Given the description of an element on the screen output the (x, y) to click on. 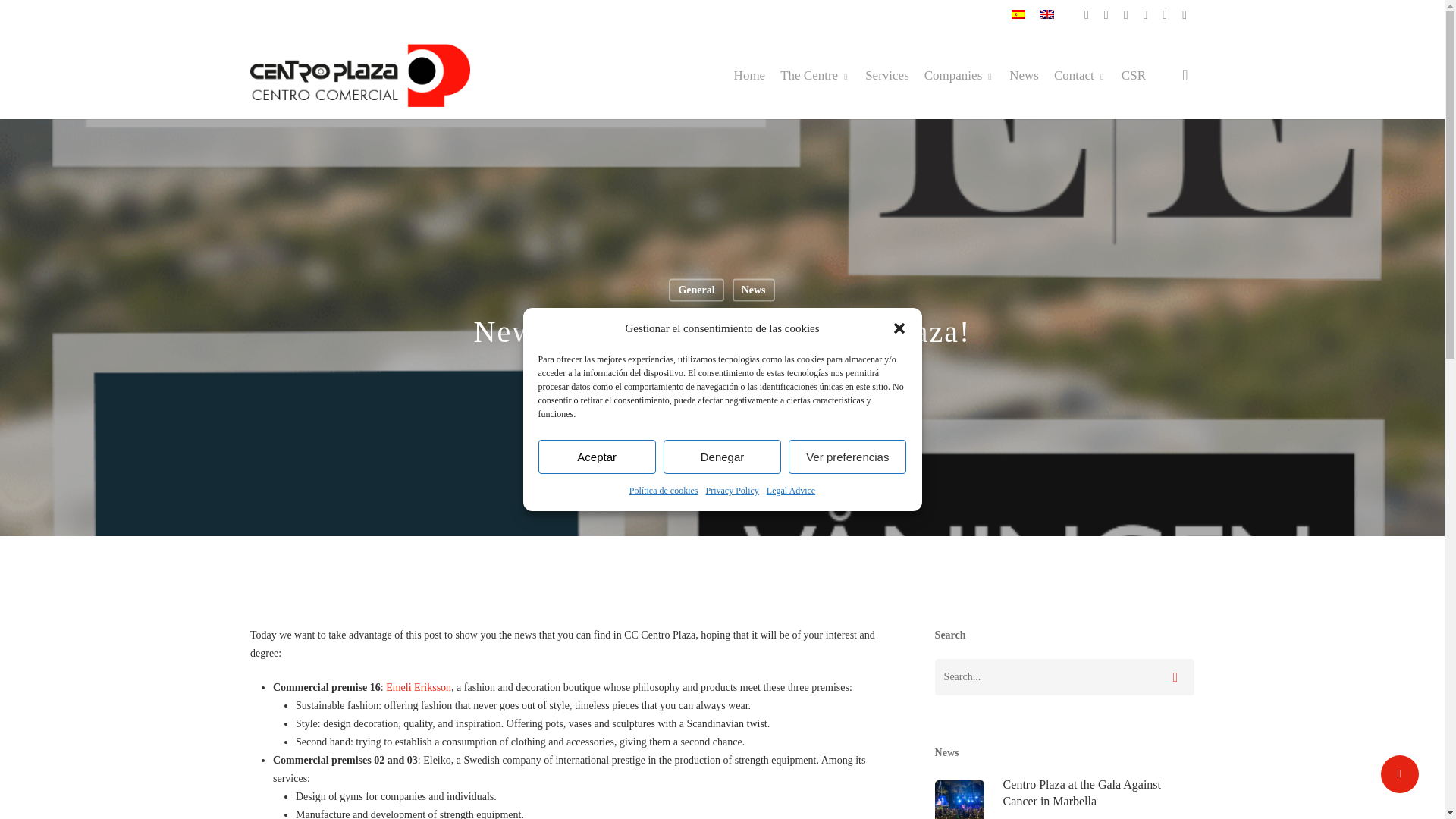
The Centre (815, 74)
Denegar (721, 456)
Legal Advice (791, 490)
Companies (959, 74)
Services (886, 74)
Home (749, 74)
Ver preferencias (847, 456)
Aceptar (597, 456)
Search for: (1063, 677)
Privacy Policy (731, 490)
